Given the description of an element on the screen output the (x, y) to click on. 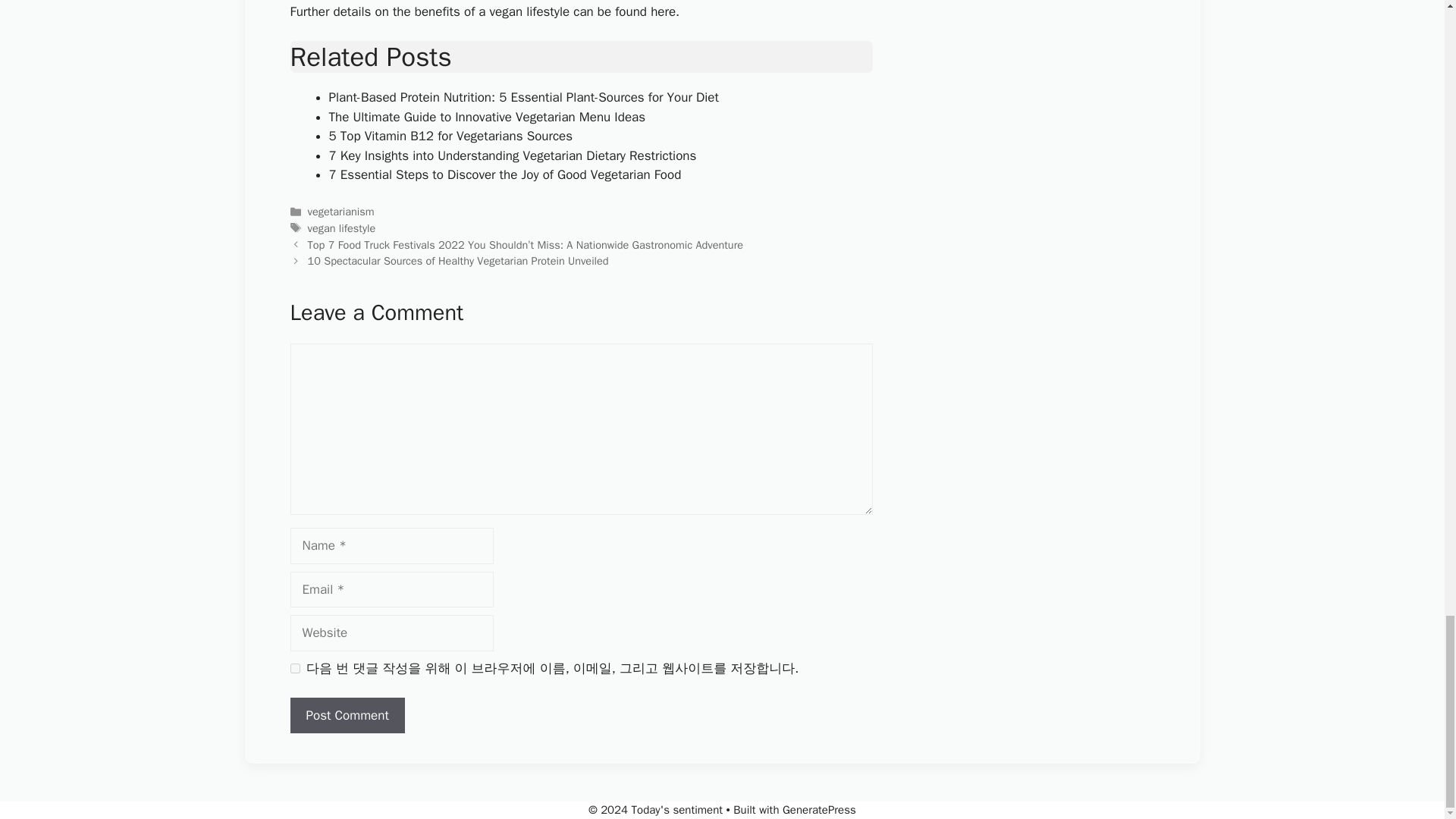
Post Comment (346, 715)
vegetarianism (340, 211)
The Ultimate Guide to Innovative Vegetarian Menu Ideas (487, 116)
5 Top Vitamin B12 for Vegetarians Sources (451, 135)
Post Comment (346, 715)
yes (294, 668)
here (662, 11)
vegan lifestyle (341, 228)
